Given the description of an element on the screen output the (x, y) to click on. 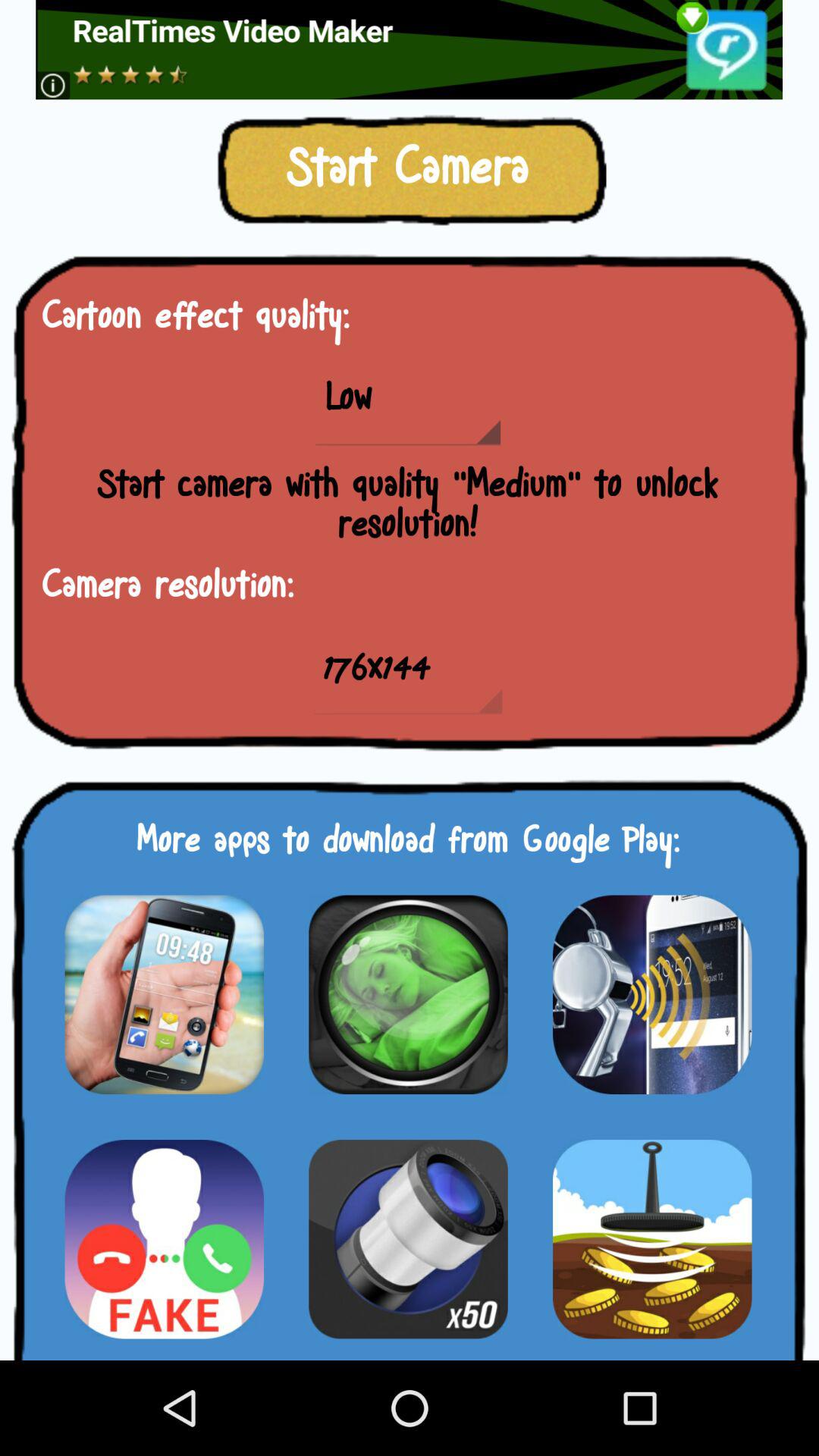
download flashlight app (408, 1239)
